Given the description of an element on the screen output the (x, y) to click on. 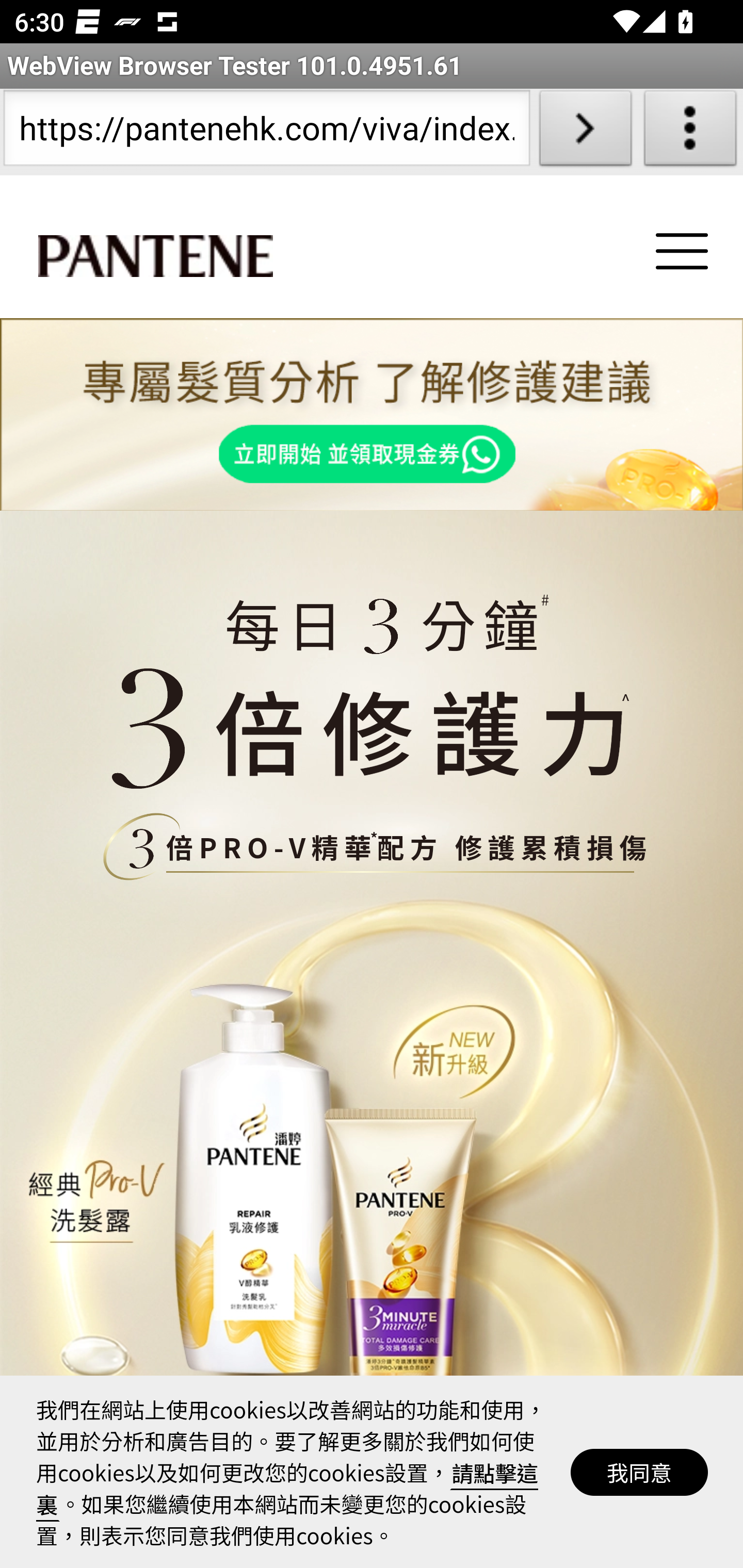
Load URL (585, 132)
About WebView (690, 132)
pantene 潘婷 PANTENE logo pantene 潘婷 PANTENE logo (155, 256)
coupon_mb (371, 414)
我同意 (639, 1472)
請點擊這裏 (287, 1487)
